Given the description of an element on the screen output the (x, y) to click on. 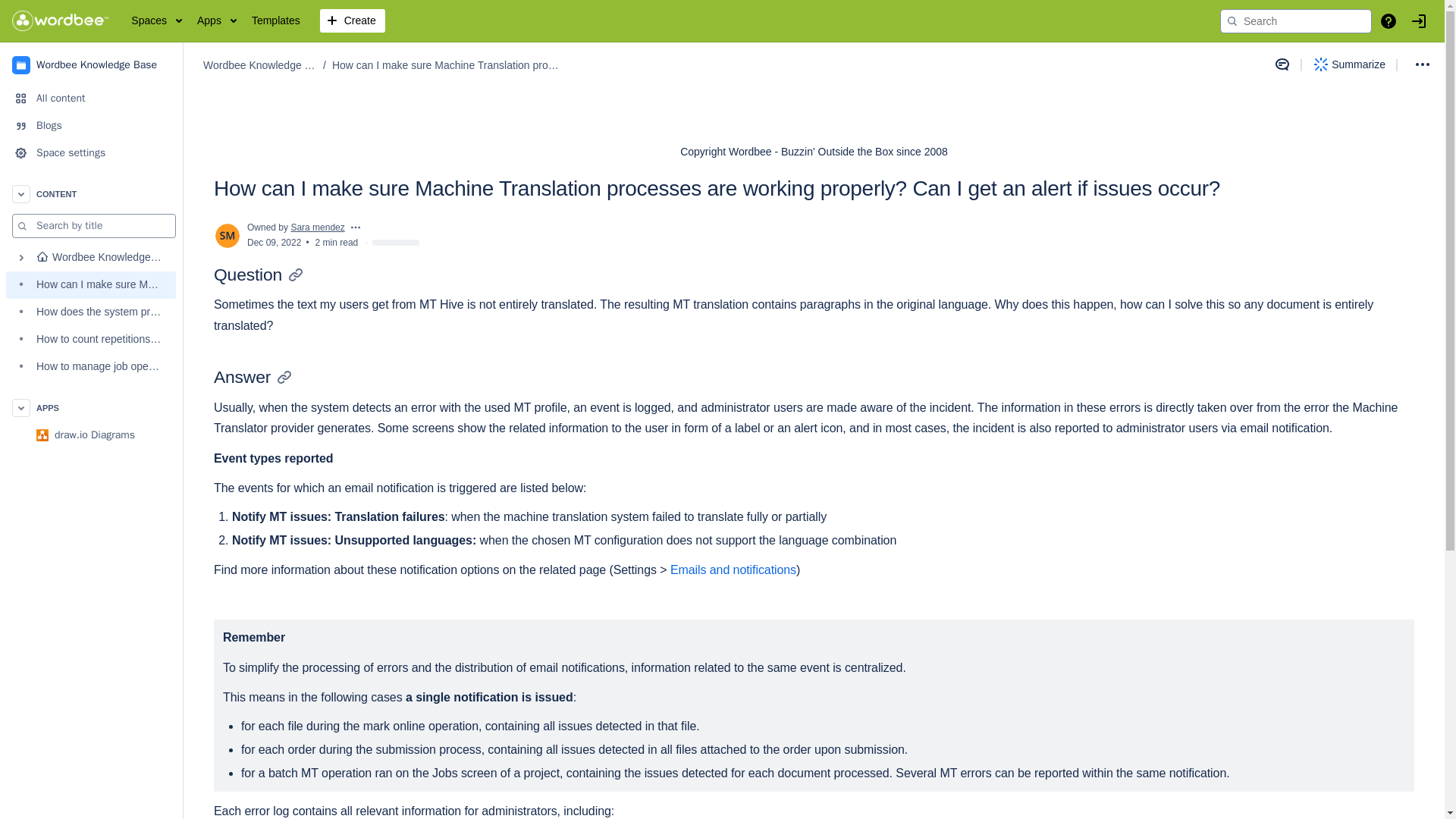
Emails and notifications (732, 569)
Wordbee Knowledge Base (260, 64)
draw.io Diagrams (90, 434)
APPS (90, 407)
Spaces (156, 21)
Sara mendez (316, 226)
Wordbee Knowledge Base (90, 64)
CONTENT (90, 194)
Templates (275, 21)
